Given the description of an element on the screen output the (x, y) to click on. 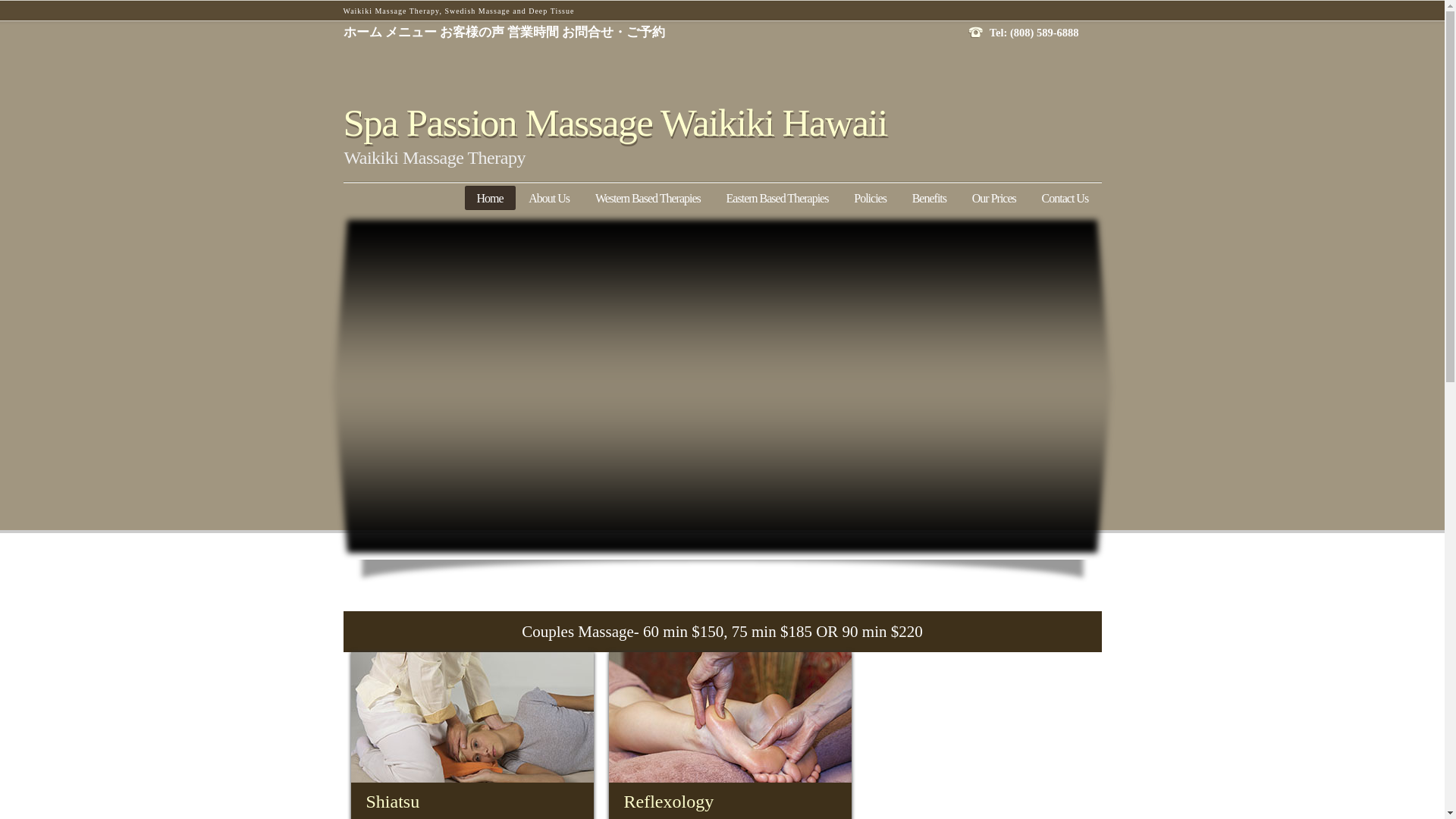
Eastern Based Therapies (777, 197)
Reflexology (729, 801)
Policies (870, 197)
Home (489, 197)
Waikiki Massage Therapy, Swedish Massage and Deep Tissue (457, 10)
About Us (548, 197)
Reflexology (729, 716)
Contact Us (1065, 197)
Spa Passion Massage Waikiki Hawaii (614, 122)
Waikiki Massage Therapy, Swedish Massage and Deep Tissue (457, 10)
Western Based Therapies (648, 197)
Spa Passion Waikiki (614, 122)
Our Prices (993, 197)
Shiatsu (471, 716)
Benefits (929, 197)
